Given the description of an element on the screen output the (x, y) to click on. 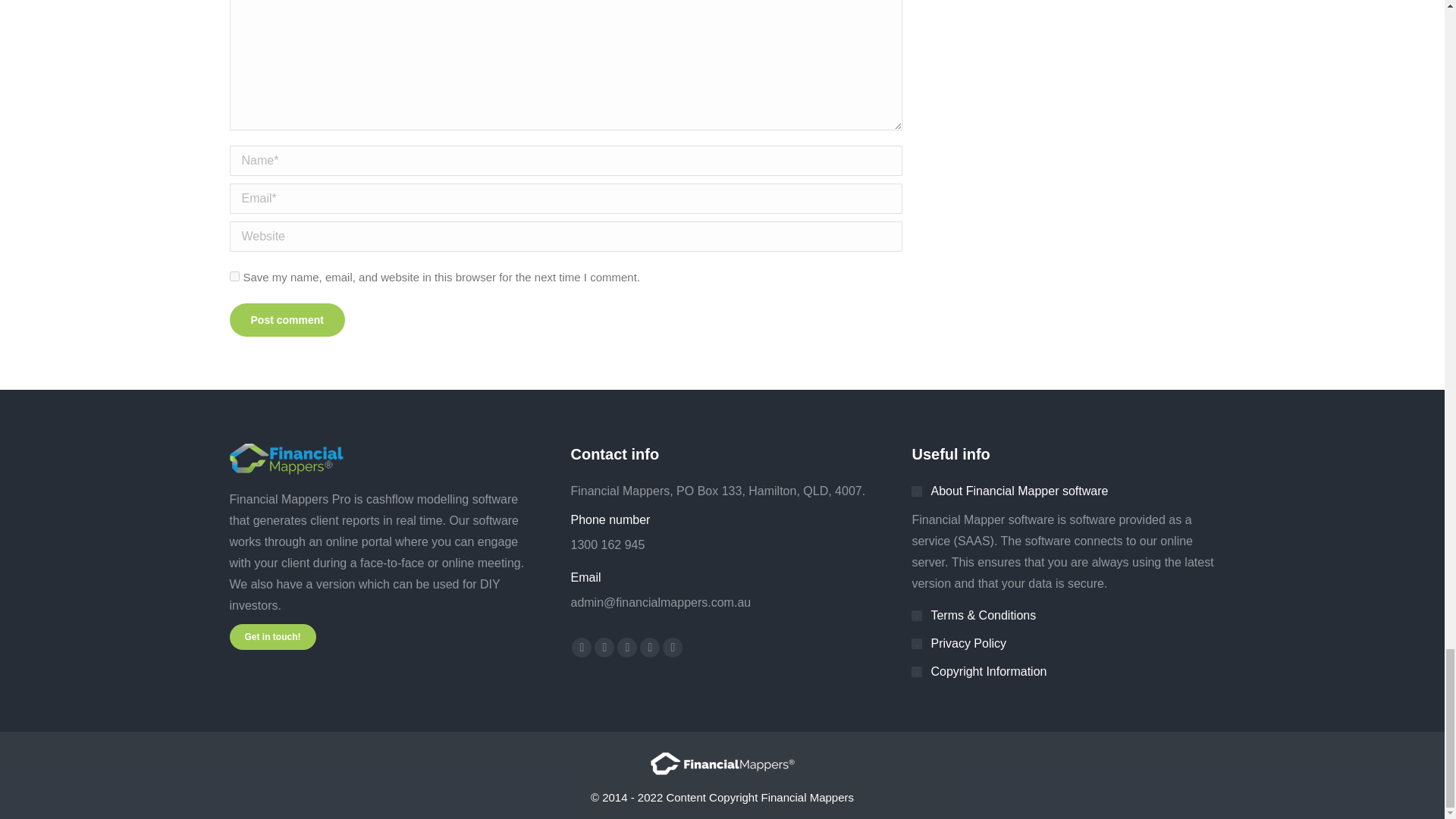
yes (233, 276)
